Given the description of an element on the screen output the (x, y) to click on. 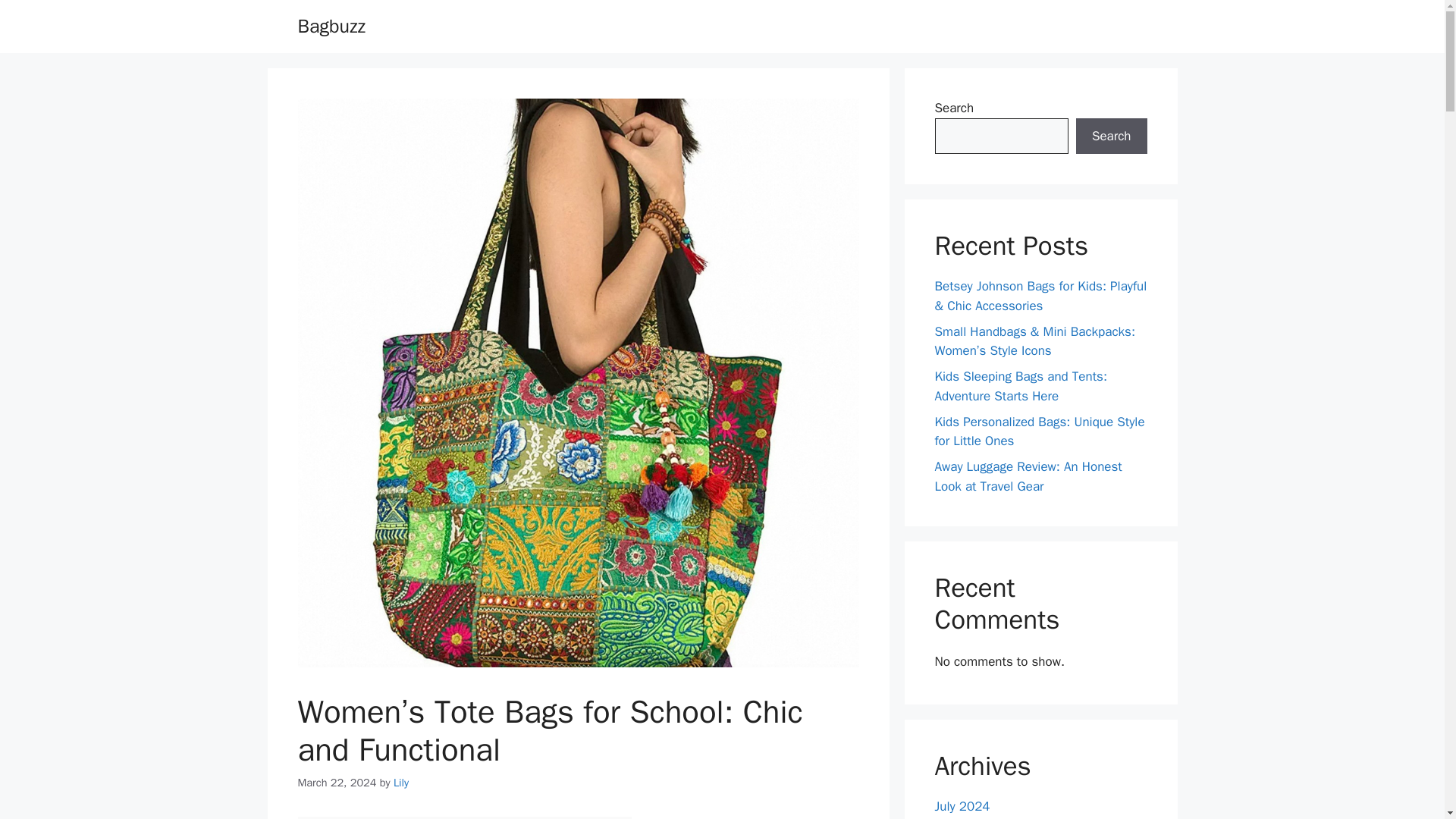
View all posts by Lily (401, 782)
Away Luggage Review: An Honest Look at Travel Gear (1027, 476)
Kids Sleeping Bags and Tents: Adventure Starts Here (1020, 386)
July 2024 (962, 806)
Bagbuzz (331, 25)
Search (1111, 135)
Lily (401, 782)
Kids Personalized Bags: Unique Style for Little Ones (1039, 431)
